Given the description of an element on the screen output the (x, y) to click on. 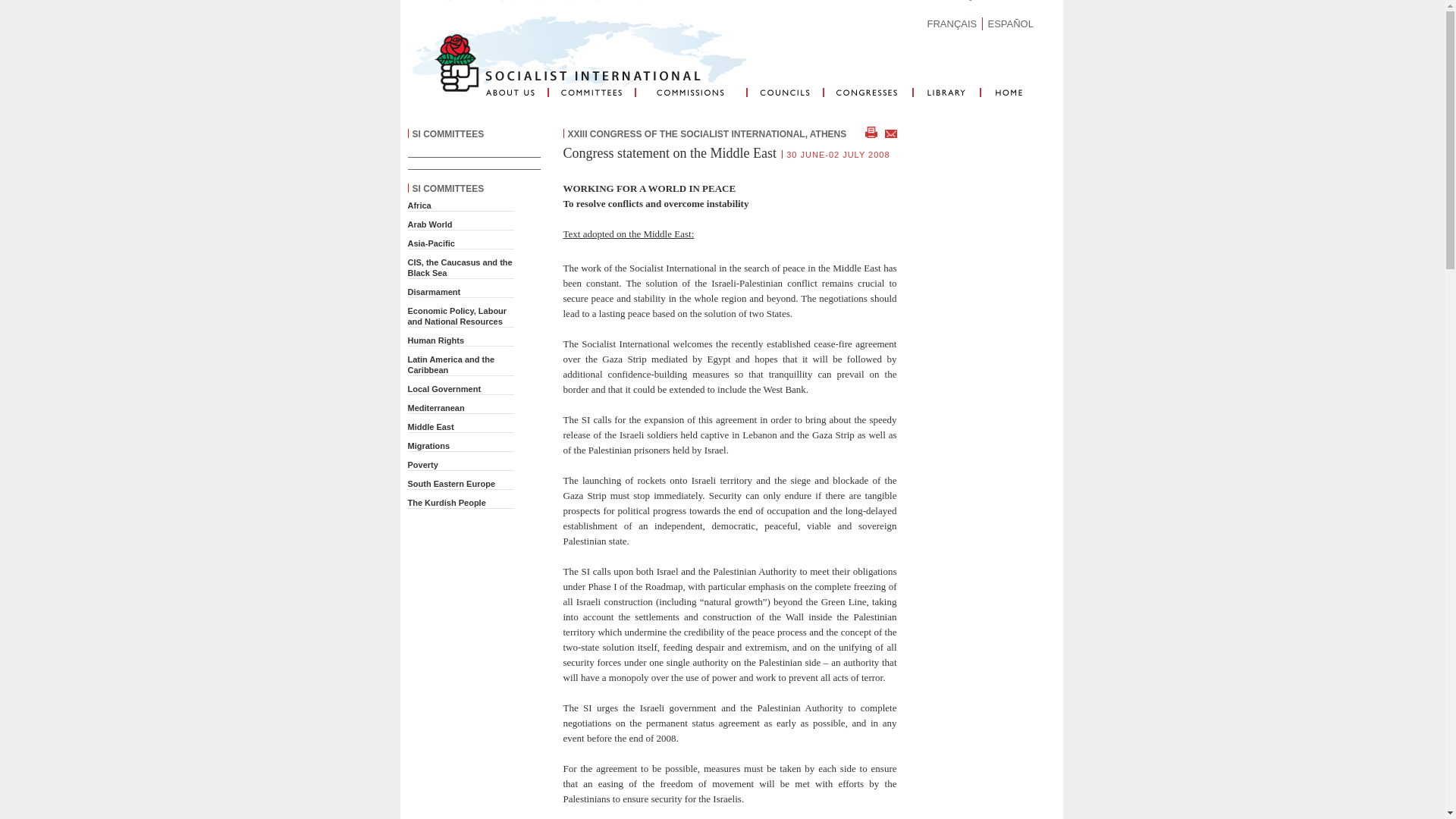
The Kurdish People (446, 501)
Arab World (429, 224)
Human Rights (435, 339)
Poverty (422, 464)
South Eastern Europe (451, 483)
Migrations (428, 445)
SI COMMITTEES (448, 133)
Local Government (444, 388)
Disarmament (434, 291)
Congress statement on the Middle East (669, 152)
Latin America and the Caribbean (451, 364)
CIS, the Caucasus and the Black Sea (459, 267)
Middle East (430, 426)
Africa (418, 204)
Economic Policy, Labour and National Resources (456, 315)
